Given the description of an element on the screen output the (x, y) to click on. 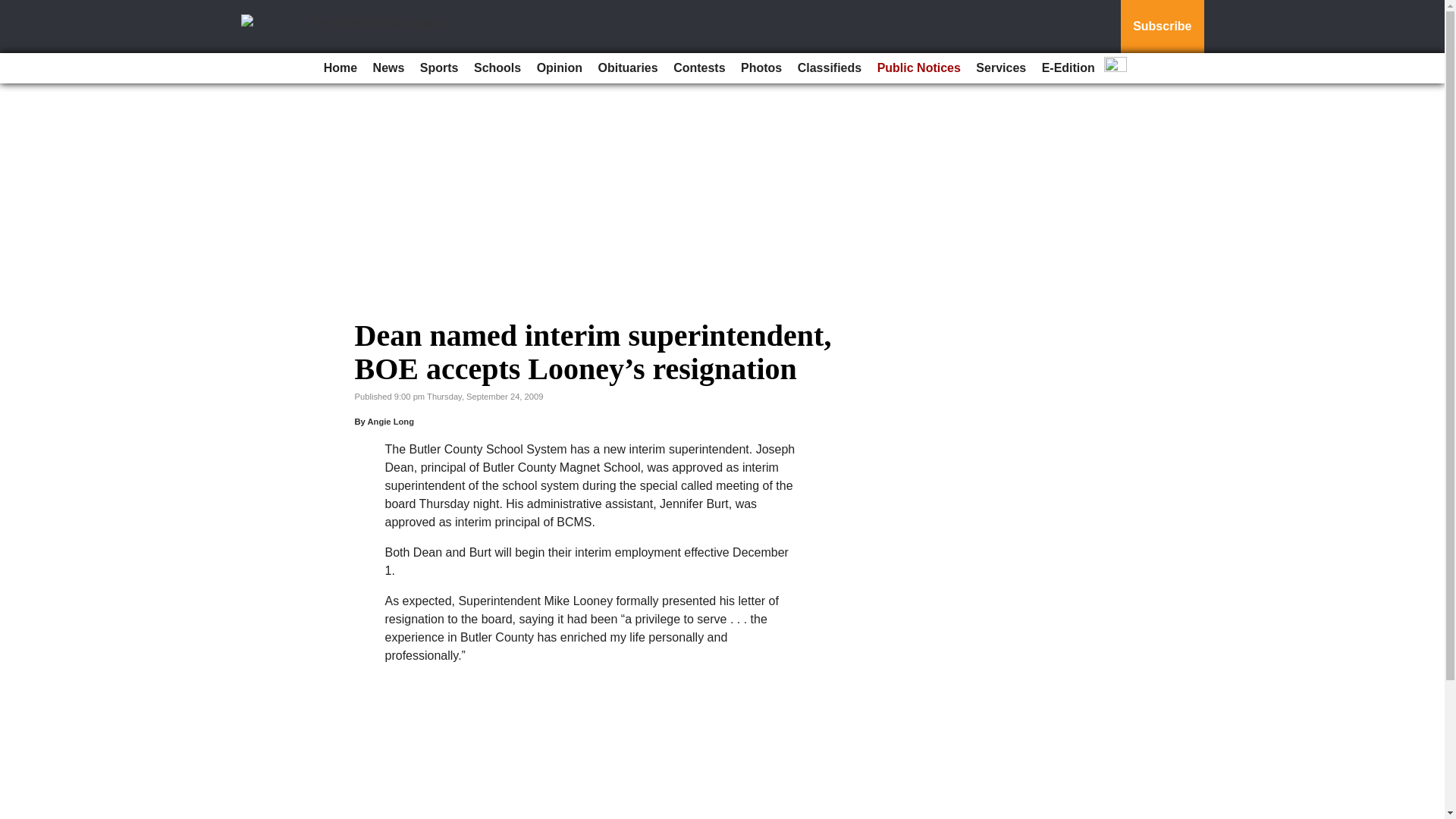
Schools (497, 68)
Photos (761, 68)
Go (13, 9)
Services (1000, 68)
Obituaries (627, 68)
Sports (438, 68)
Public Notices (918, 68)
Contests (698, 68)
News (388, 68)
Opinion (559, 68)
E-Edition (1067, 68)
Angie Long (389, 420)
Subscribe (1162, 26)
Home (339, 68)
Classifieds (829, 68)
